Given the description of an element on the screen output the (x, y) to click on. 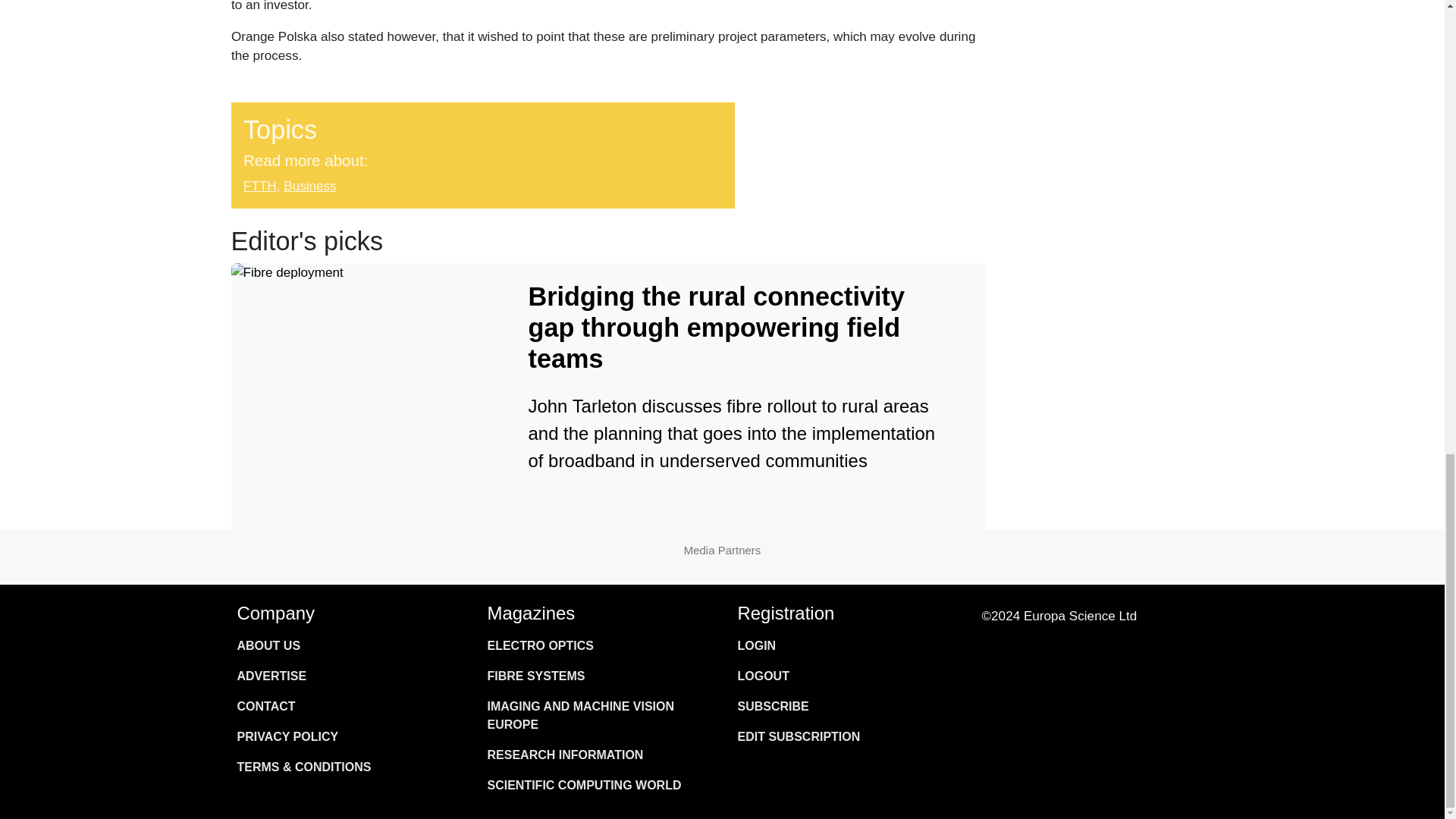
FTTH (259, 185)
Business (309, 185)
